Given the description of an element on the screen output the (x, y) to click on. 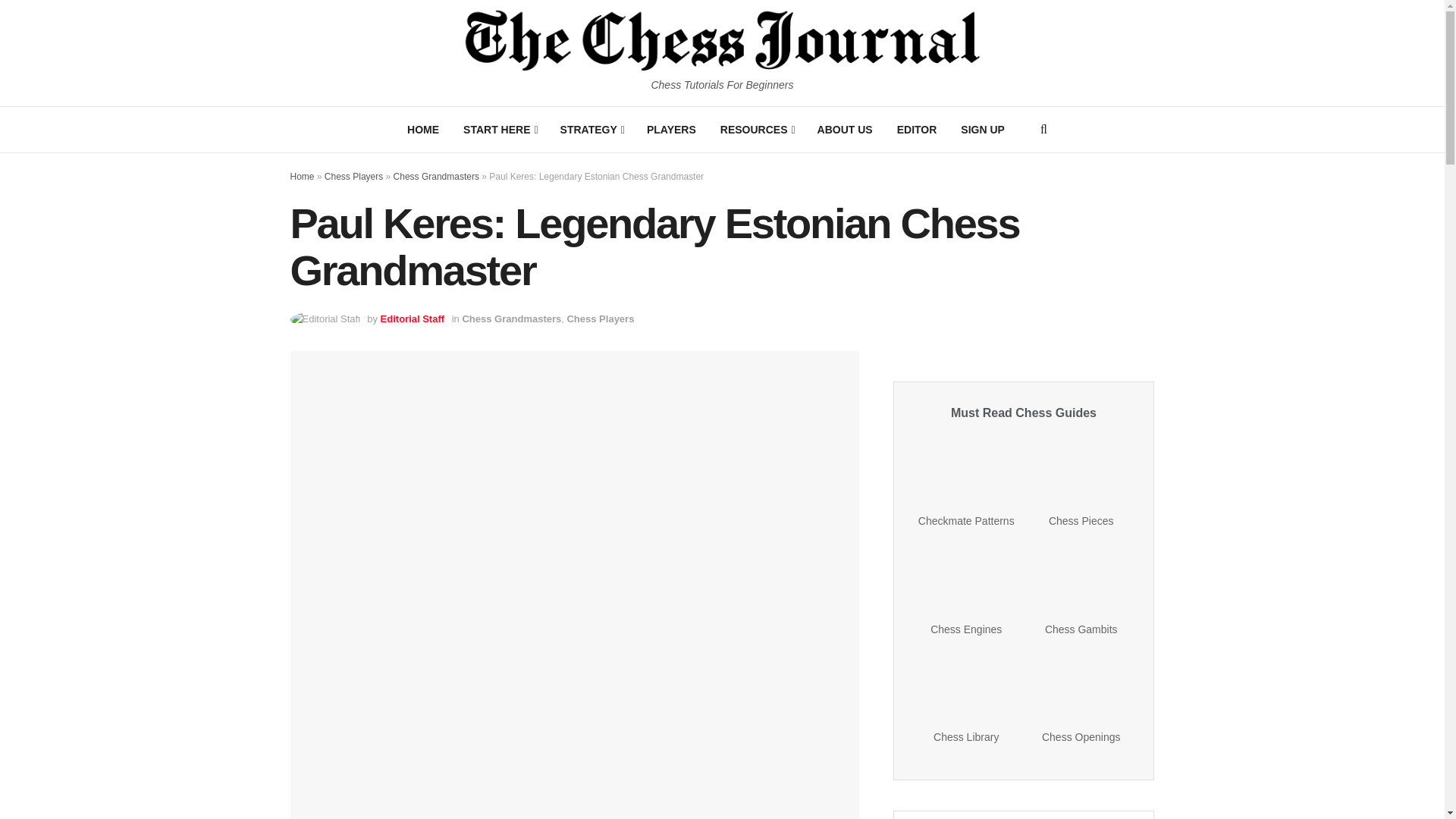
EDITOR (917, 129)
STRATEGY (591, 129)
START HERE (499, 129)
HOME (422, 129)
SIGN UP (982, 129)
PLAYERS (670, 129)
ABOUT US (845, 129)
RESOURCES (756, 129)
